Given the description of an element on the screen output the (x, y) to click on. 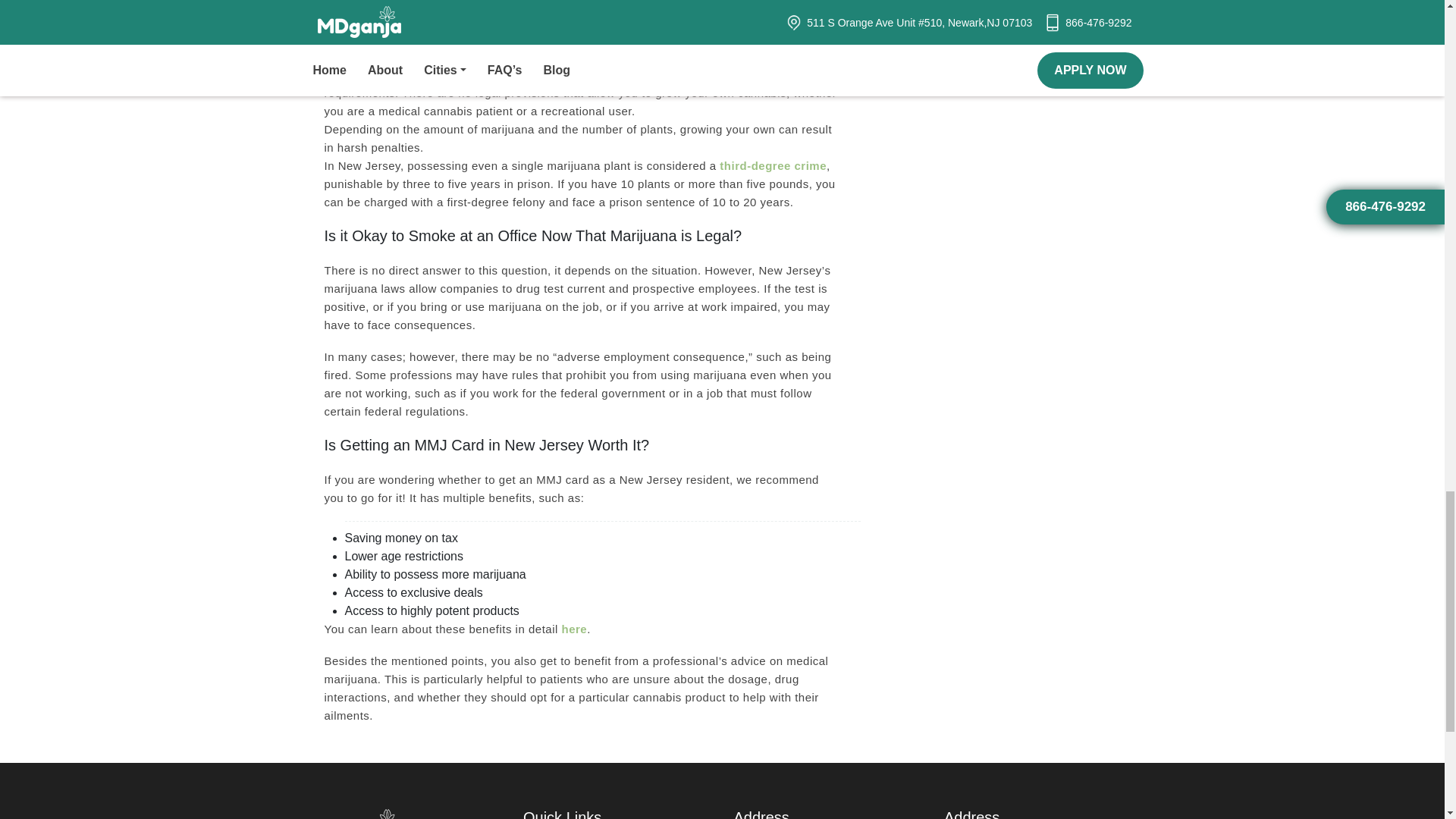
third-degree crime (773, 164)
here (573, 628)
